Given the description of an element on the screen output the (x, y) to click on. 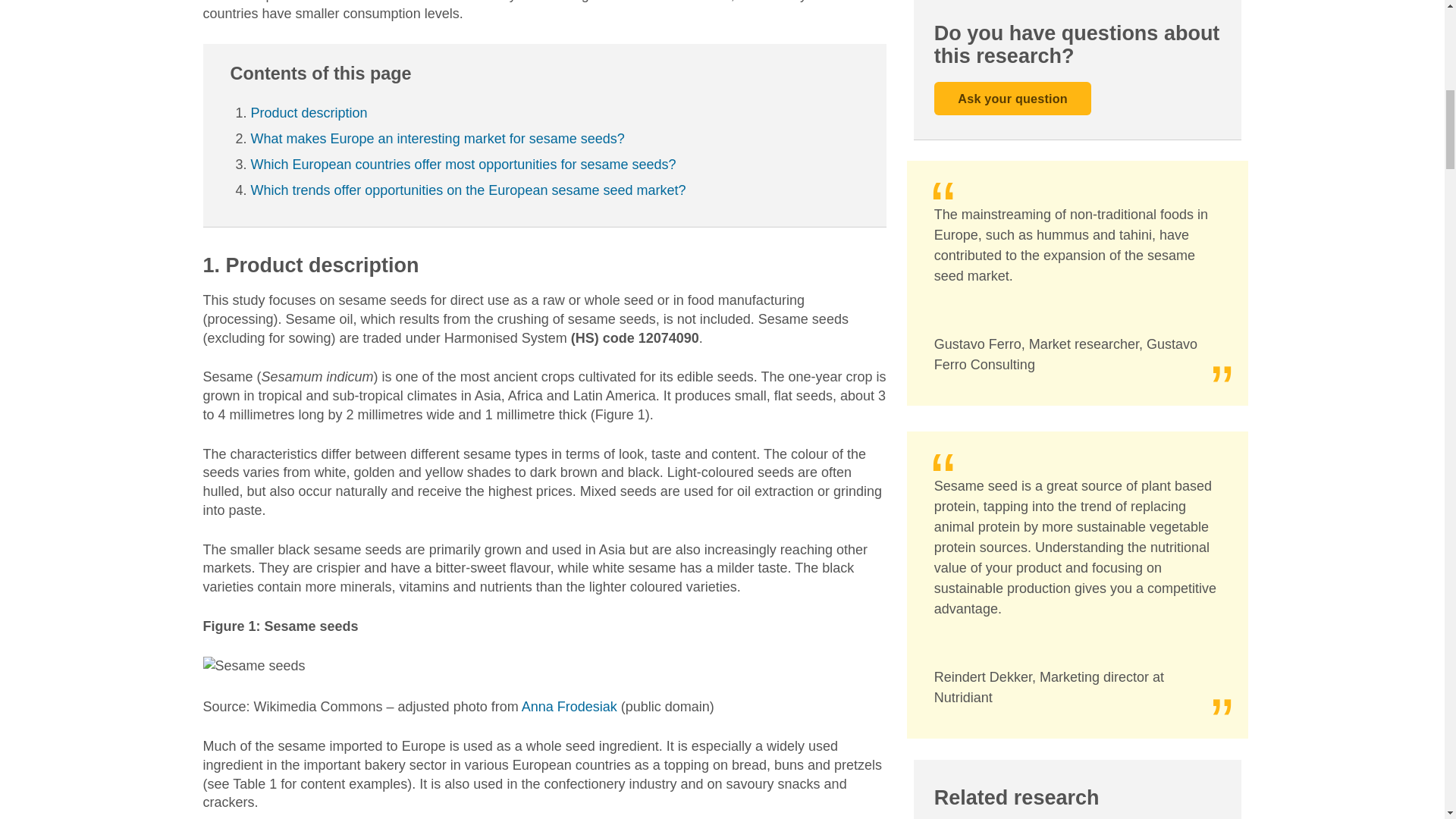
Anna Frodesiak (569, 706)
Product description (308, 112)
What makes Europe an interesting market for sesame seeds? (437, 138)
